Given the description of an element on the screen output the (x, y) to click on. 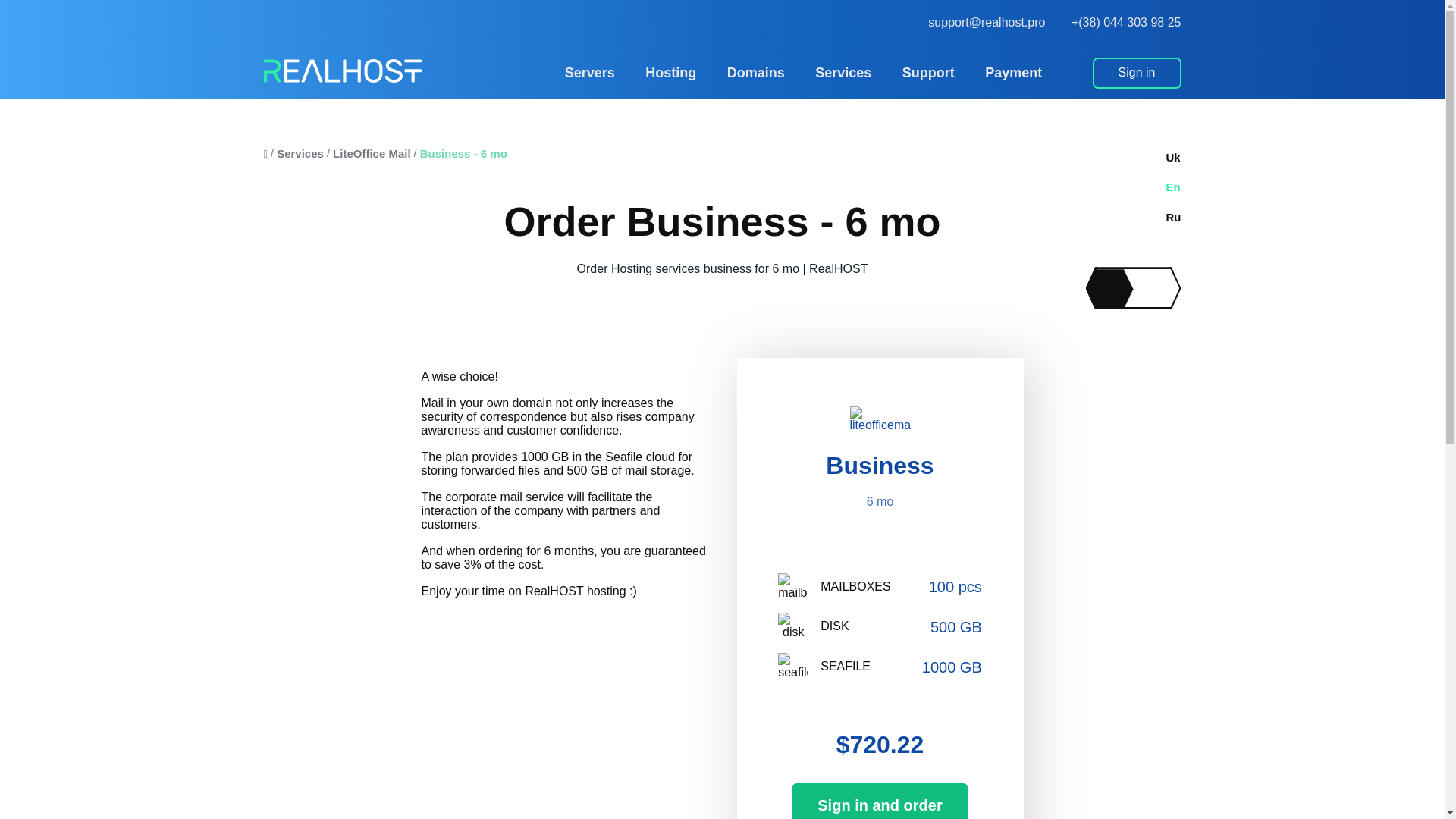
Services (843, 72)
Sign in and order (880, 800)
Ru (1165, 216)
Hosting (670, 72)
Payment (1013, 72)
Domains (755, 72)
LiteOffice Mail (371, 153)
Services (299, 153)
Support (928, 72)
Uk (1165, 157)
Servers (589, 72)
